Given the description of an element on the screen output the (x, y) to click on. 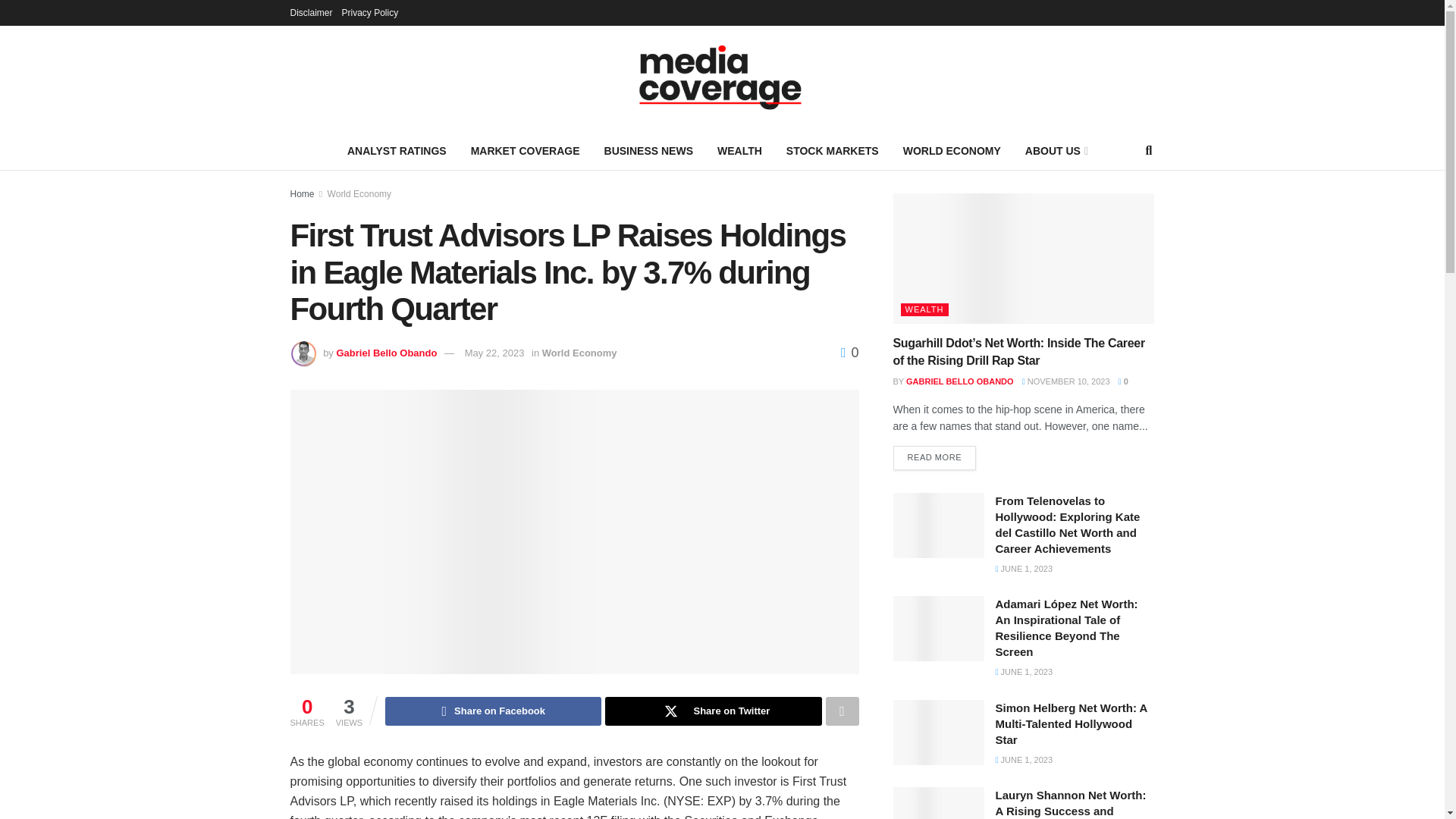
ABOUT US (1055, 150)
Disclaimer (310, 12)
World Economy (579, 352)
0 (850, 352)
Privacy Policy (370, 12)
Gabriel Bello Obando (386, 352)
WEALTH (739, 150)
MARKET COVERAGE (525, 150)
Share on Twitter (713, 710)
World Economy (359, 194)
ANALYST RATINGS (396, 150)
BUSINESS NEWS (648, 150)
Share on Facebook (493, 710)
May 22, 2023 (494, 352)
Home (301, 194)
